Given the description of an element on the screen output the (x, y) to click on. 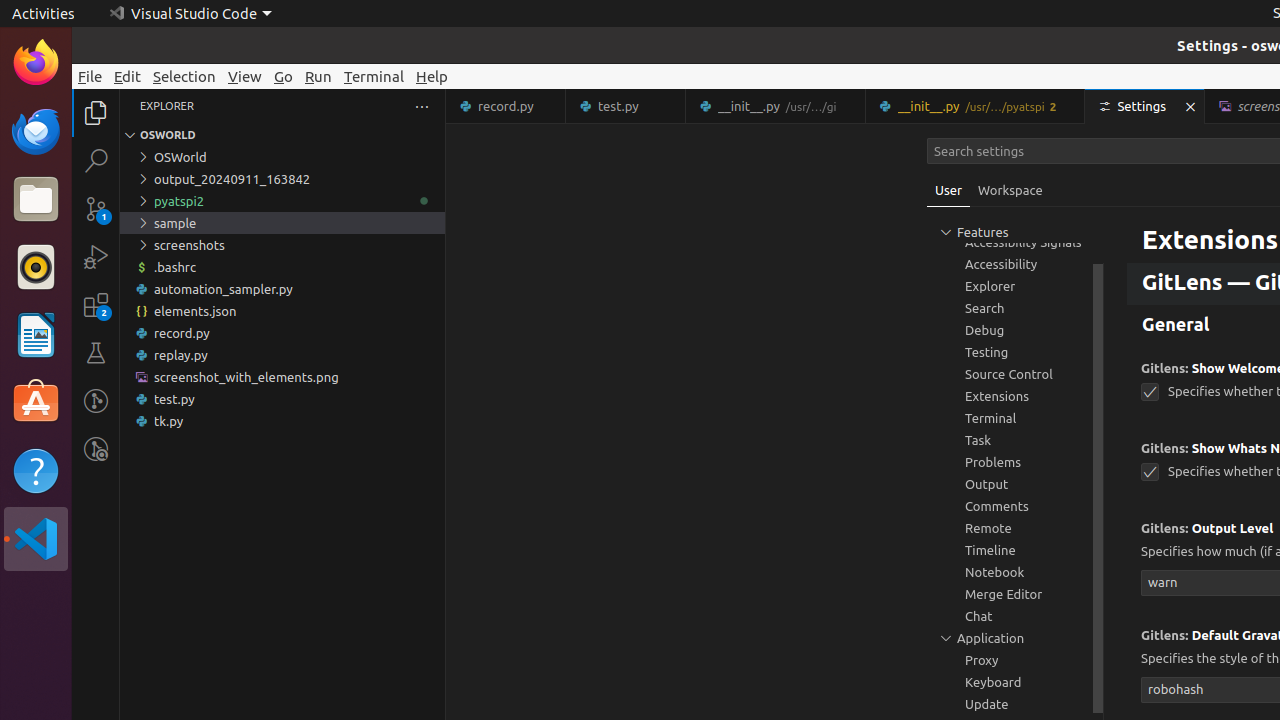
Search, group Element type: tree-item (1015, 308)
.bashrc Element type: tree-item (282, 267)
__init__.py Element type: page-tab (975, 106)
Extensions (Ctrl+Shift+X) - 2 require restart Extensions (Ctrl+Shift+X) - 2 require restart Element type: page-tab (96, 305)
record.py Element type: page-tab (506, 106)
